Given the description of an element on the screen output the (x, y) to click on. 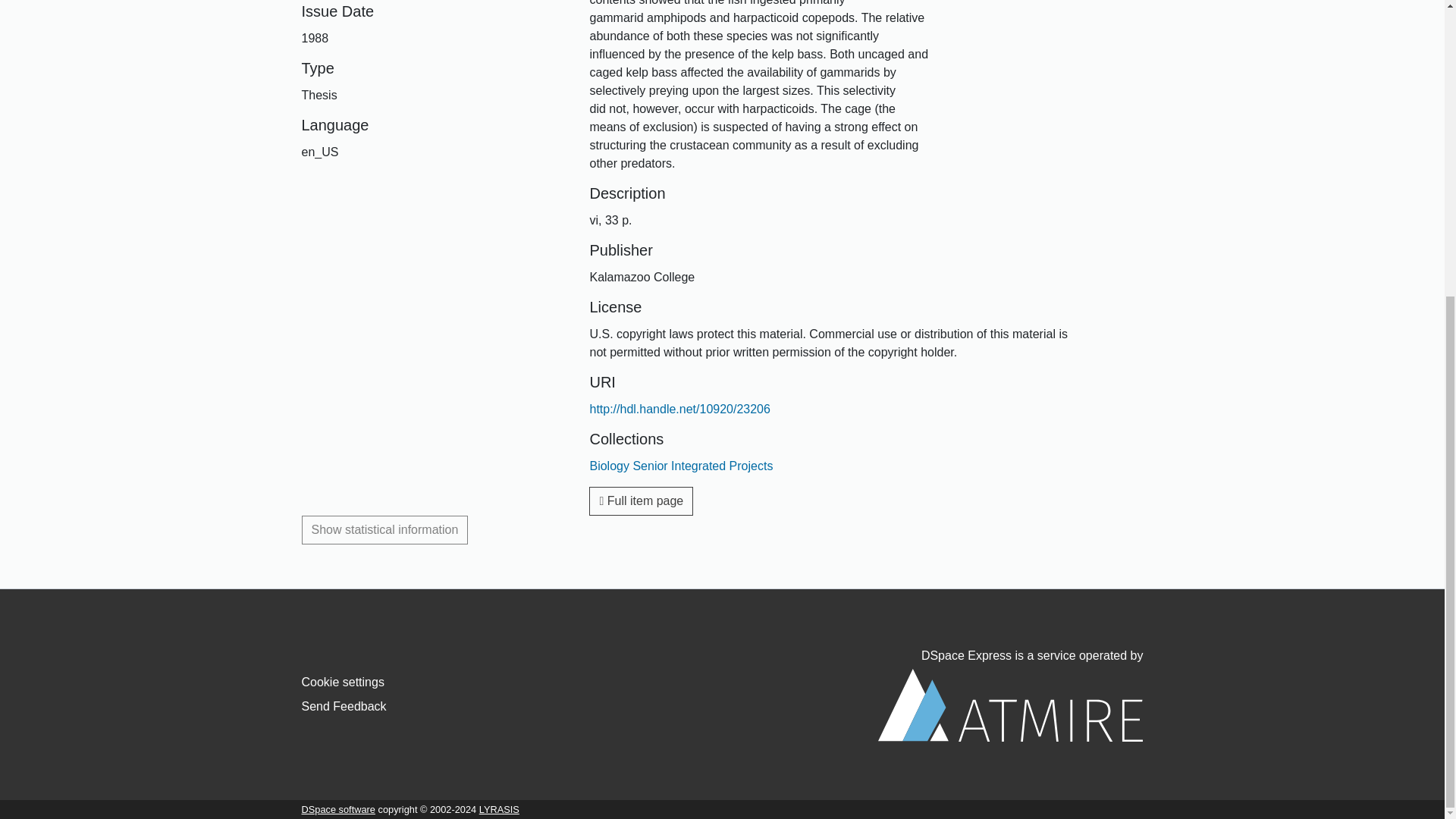
Biology Senior Integrated Projects (681, 465)
DSpace Express is a service operated by (1009, 695)
Cookie settings (342, 681)
Show statistical information (384, 529)
Send Feedback (344, 706)
Full item page (641, 500)
LYRASIS (499, 808)
DSpace software (338, 808)
